Given the description of an element on the screen output the (x, y) to click on. 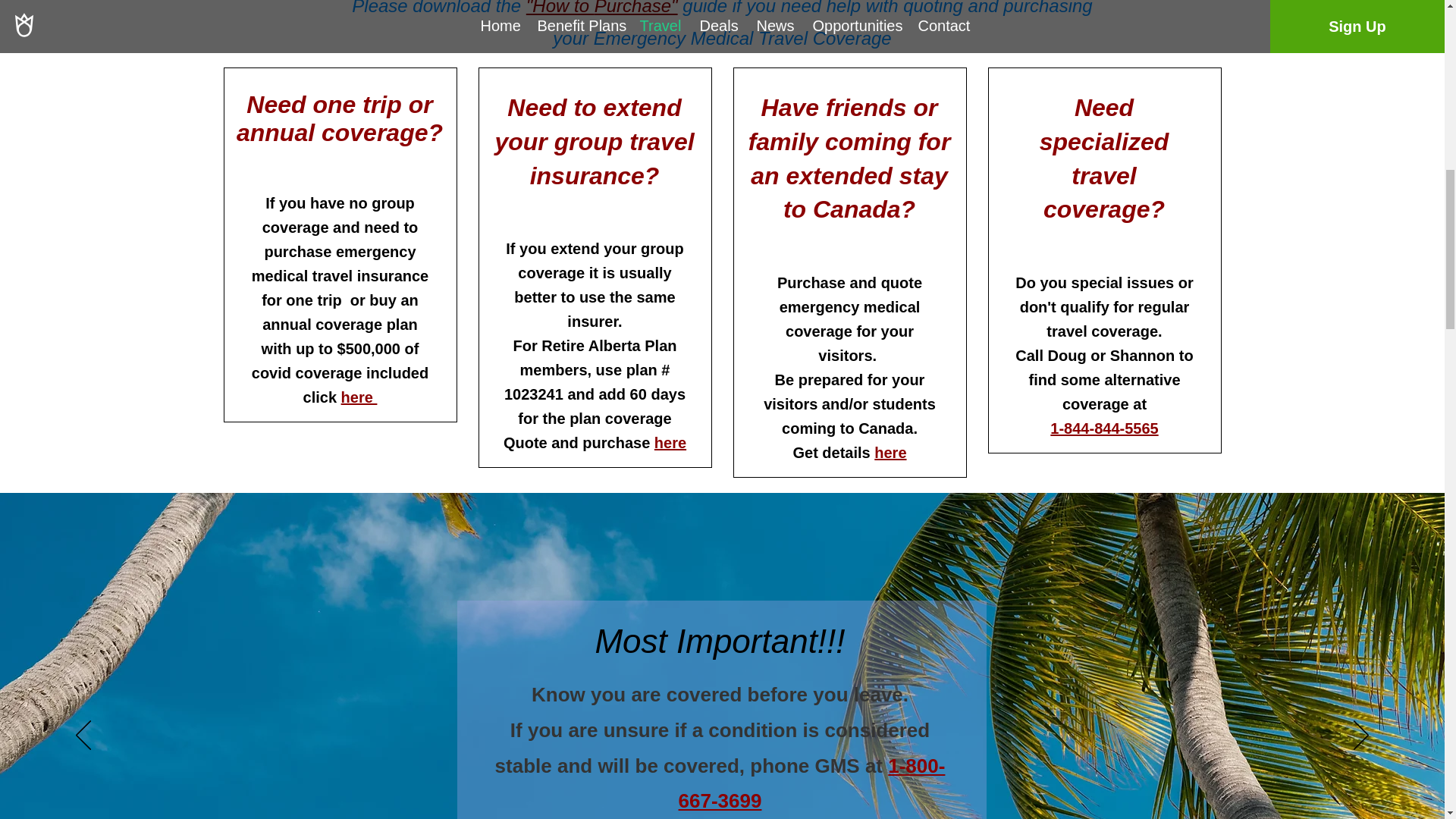
"How to Purchase" (601, 7)
1-844-844-5565 (1103, 428)
here (669, 442)
1-800-667-3699 (811, 783)
here (890, 452)
here  (358, 397)
